Given the description of an element on the screen output the (x, y) to click on. 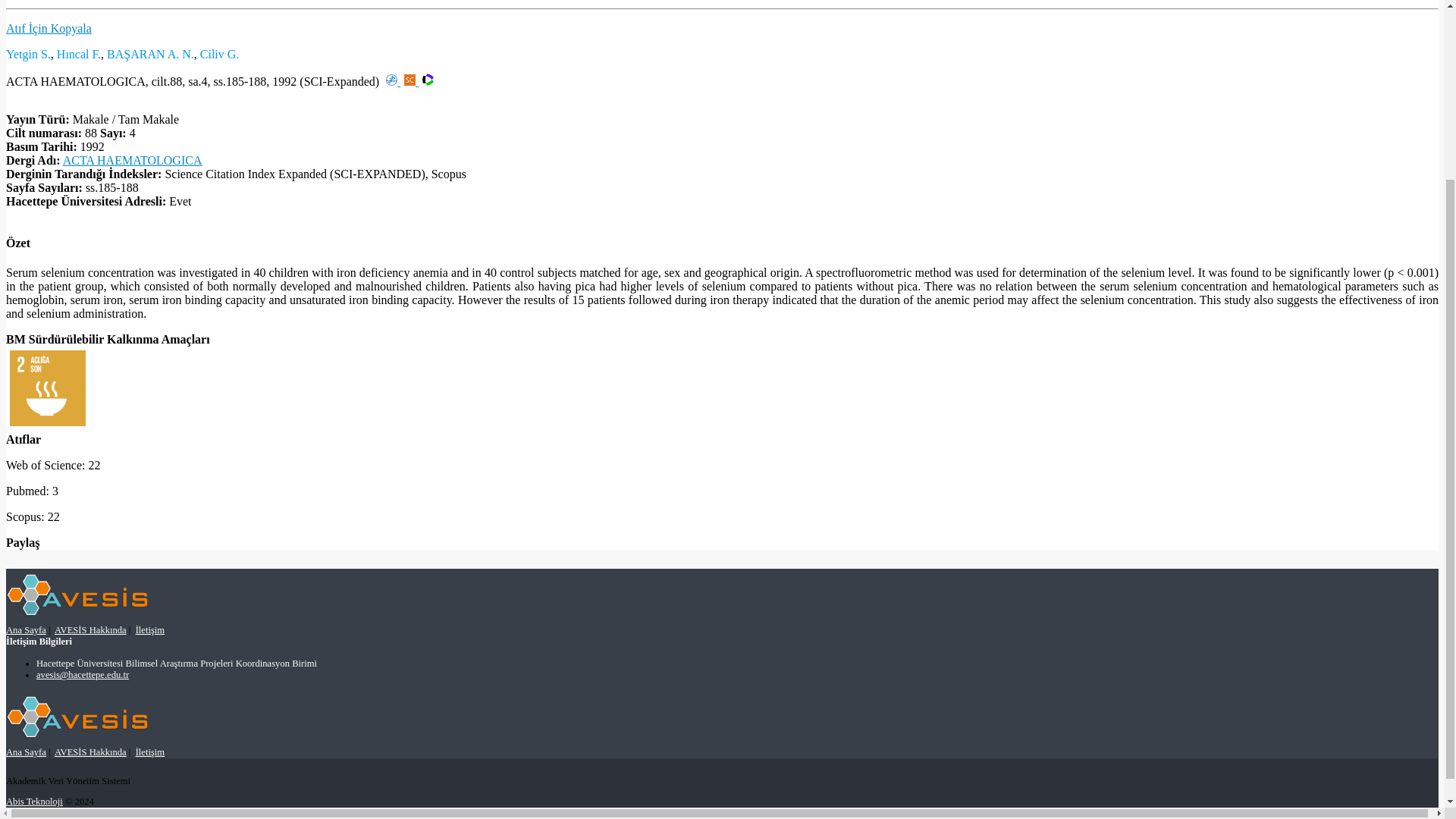
G Ciliv (220, 53)
Abis Teknoloji (33, 801)
Ciliv G. (220, 53)
Ana Sayfa (25, 629)
Yetgin S. (27, 53)
Ana Sayfa (25, 751)
ACTA HAEMATOLOGICA (132, 160)
